Given the description of an element on the screen output the (x, y) to click on. 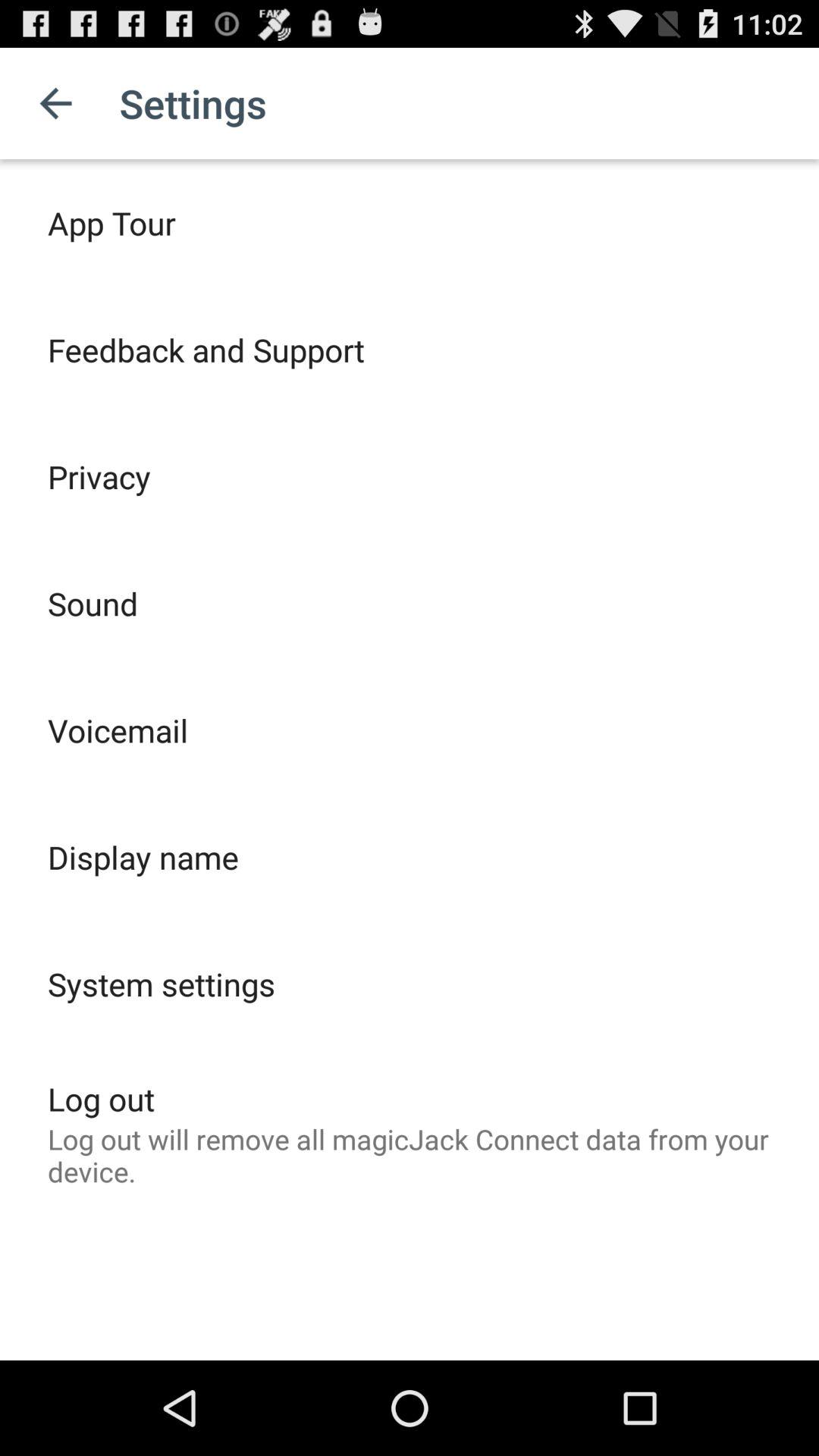
swipe until the app tour item (111, 222)
